Given the description of an element on the screen output the (x, y) to click on. 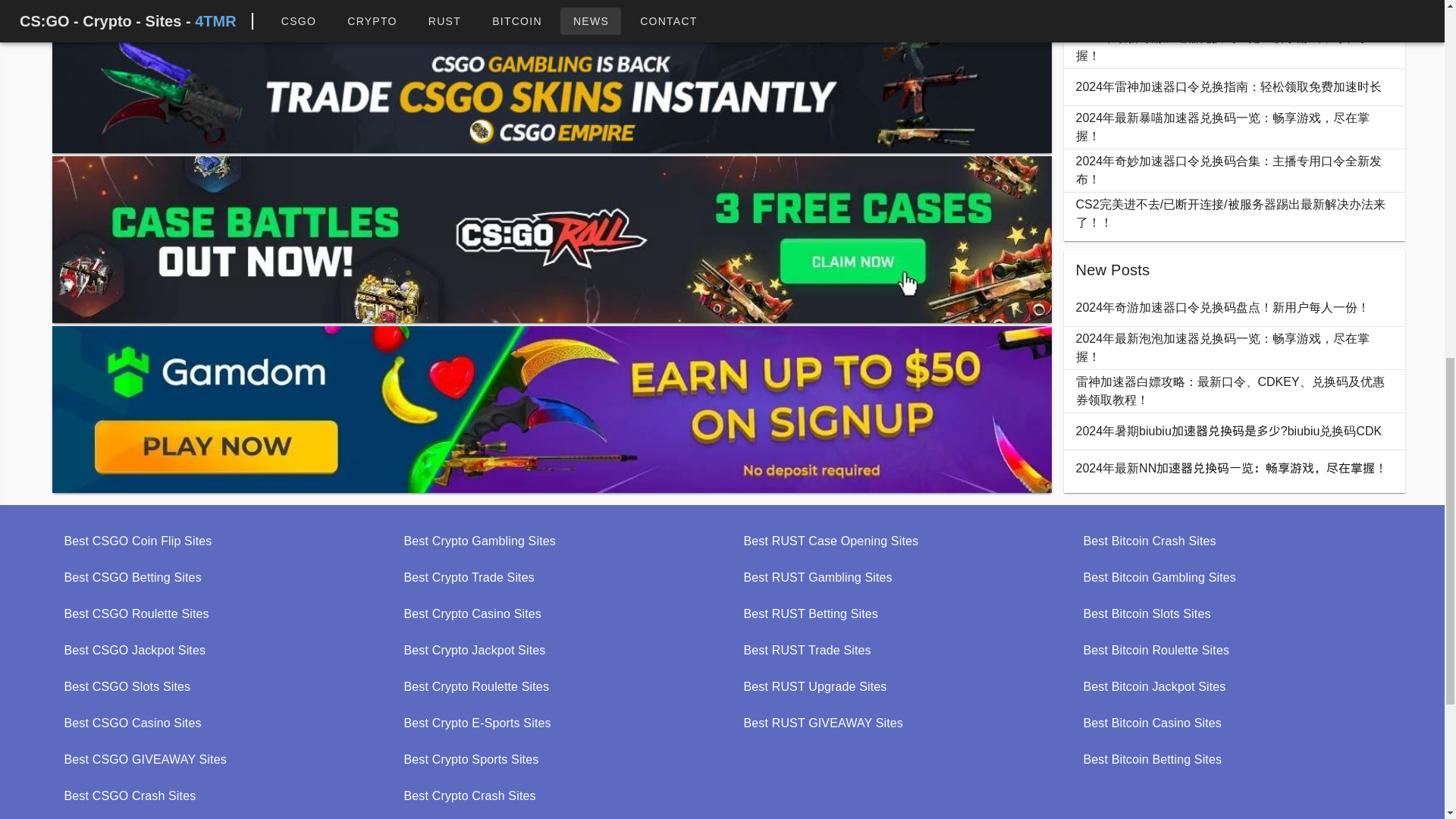
ExoClick - Advanced Ad Platform to Monetize at Scale (550, 12)
